Given the description of an element on the screen output the (x, y) to click on. 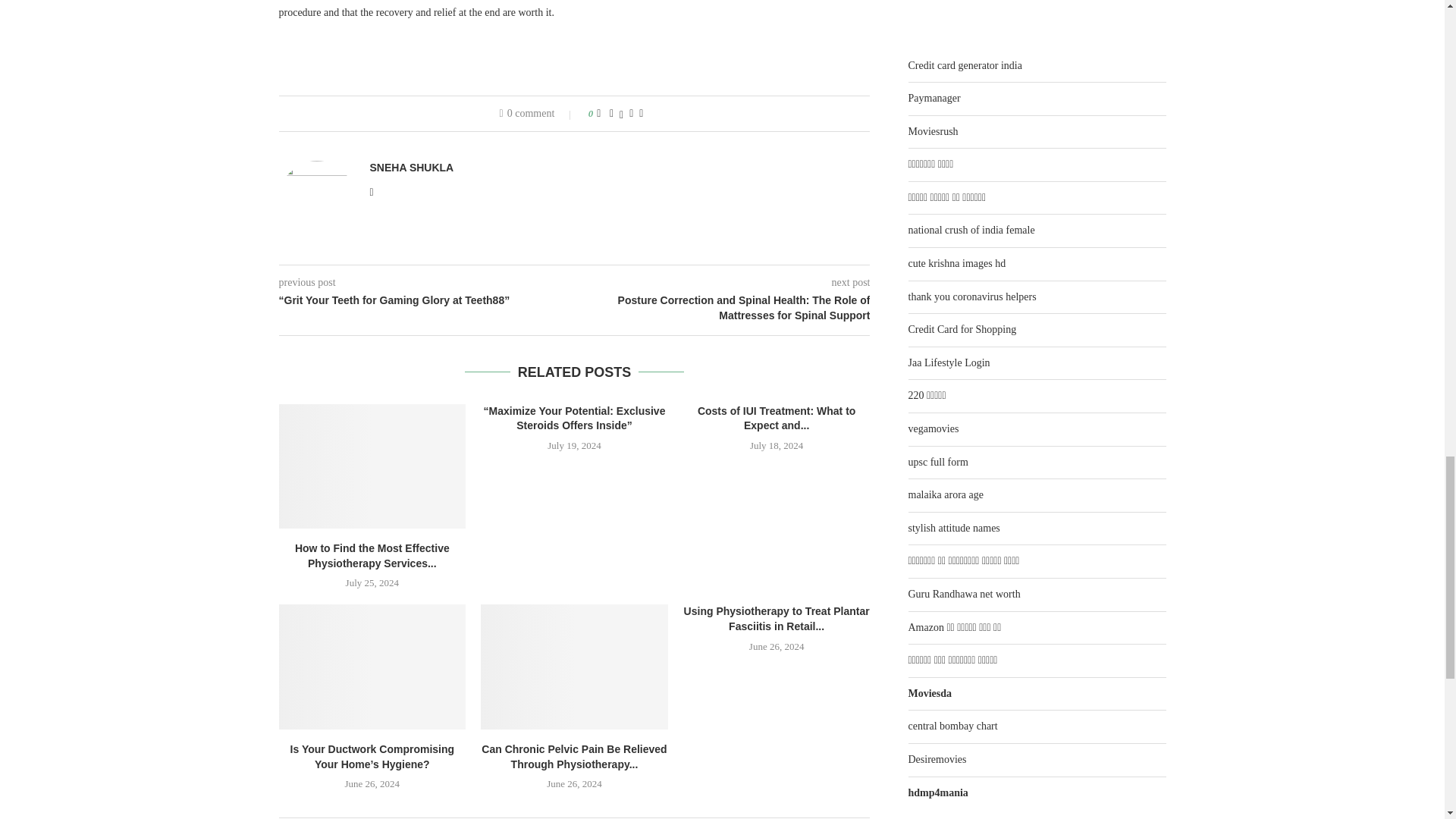
SNEHA SHUKLA (411, 167)
Costs of IUI Treatment: What to Expect and... (776, 418)
How to Find the Most Effective Physiotherapy Services... (372, 555)
Author Sneha Shukla (411, 167)
